Given the description of an element on the screen output the (x, y) to click on. 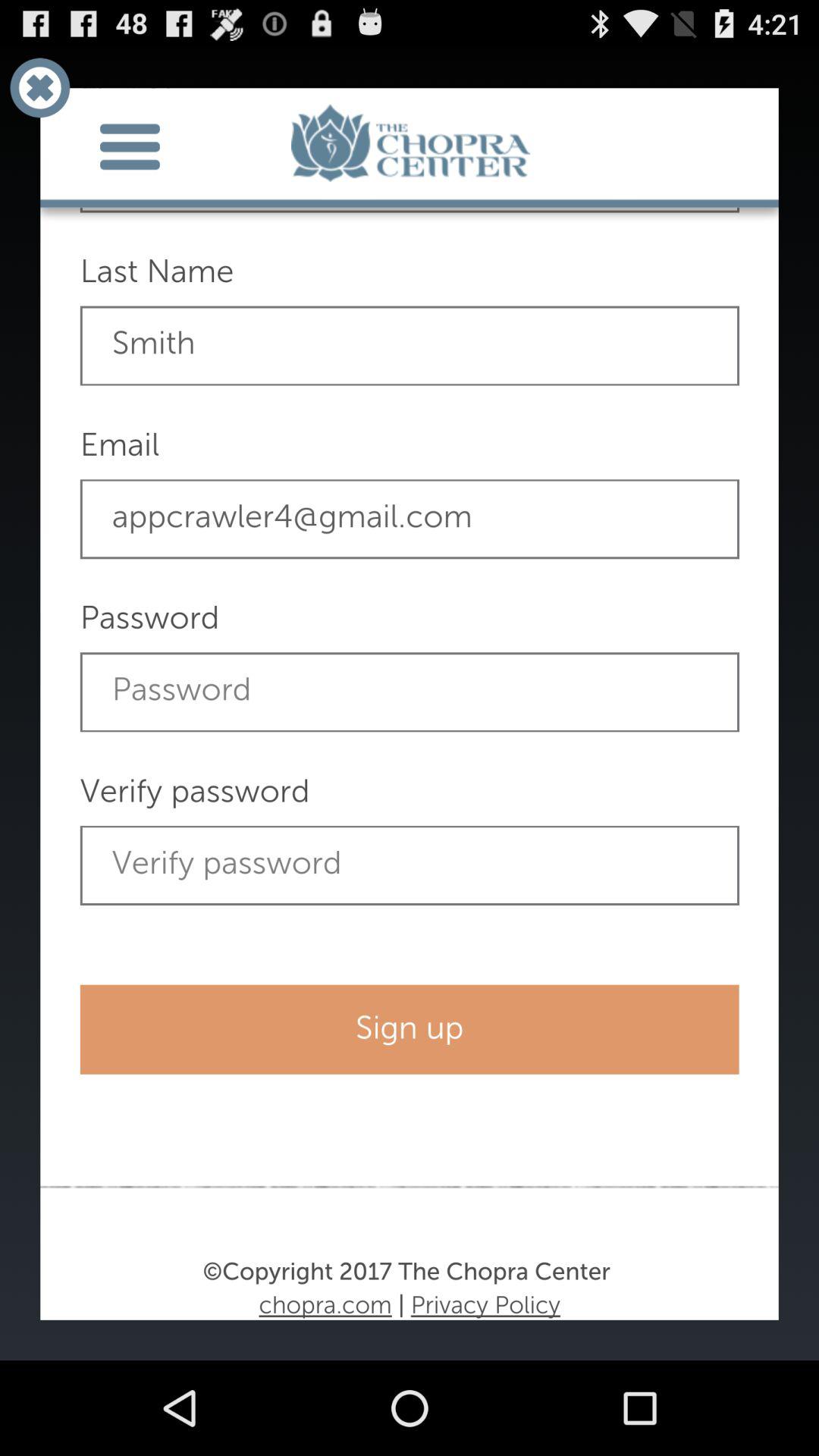
x icon (39, 87)
